Given the description of an element on the screen output the (x, y) to click on. 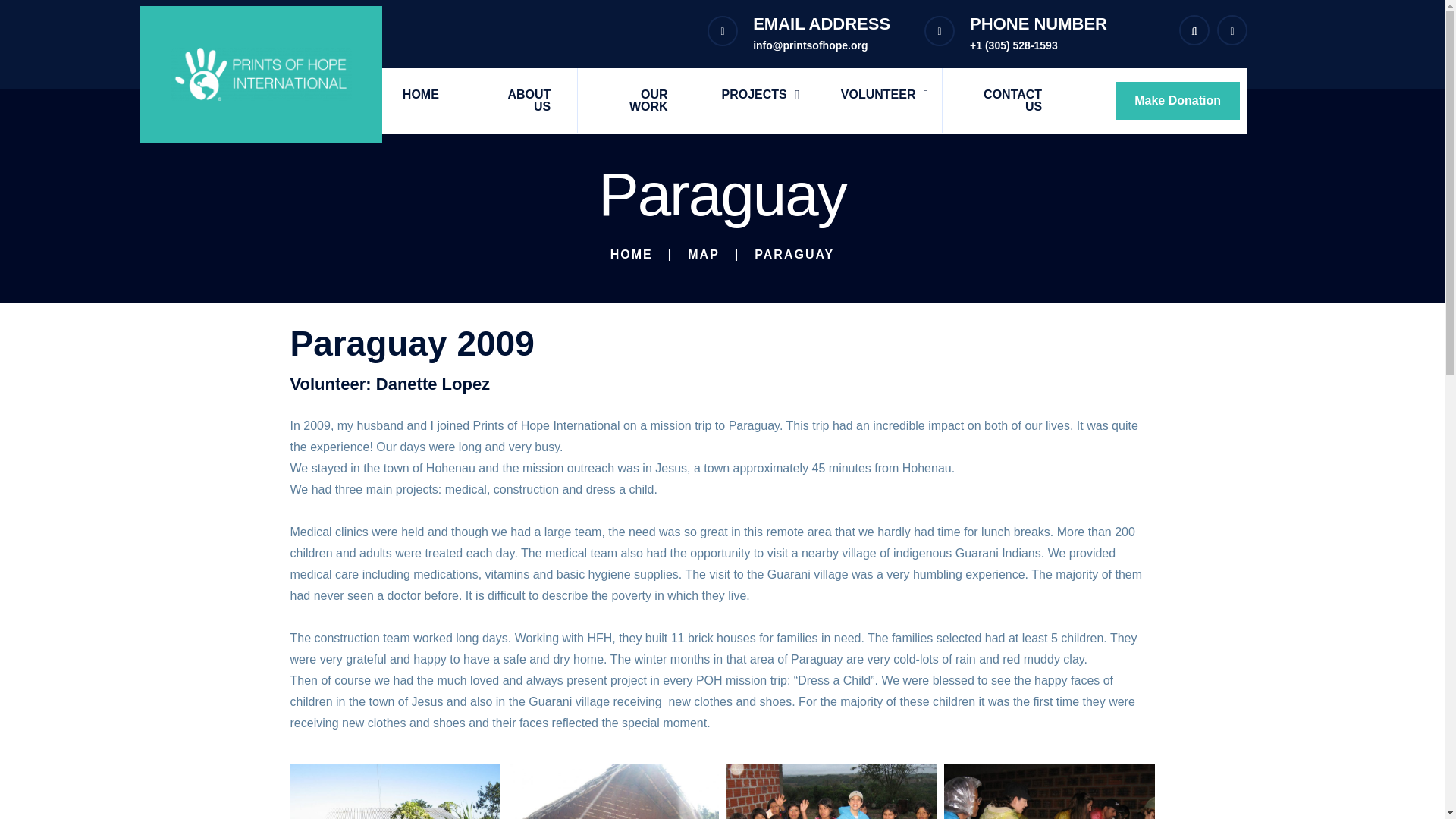
OUR WORK (635, 100)
PROJECTS (753, 94)
ABOUT US (520, 100)
VOLUNTEER (877, 94)
MAP (703, 254)
Make Donation (1177, 100)
CONTACT US (1005, 100)
HOME (631, 254)
HOME (420, 94)
